Given the description of an element on the screen output the (x, y) to click on. 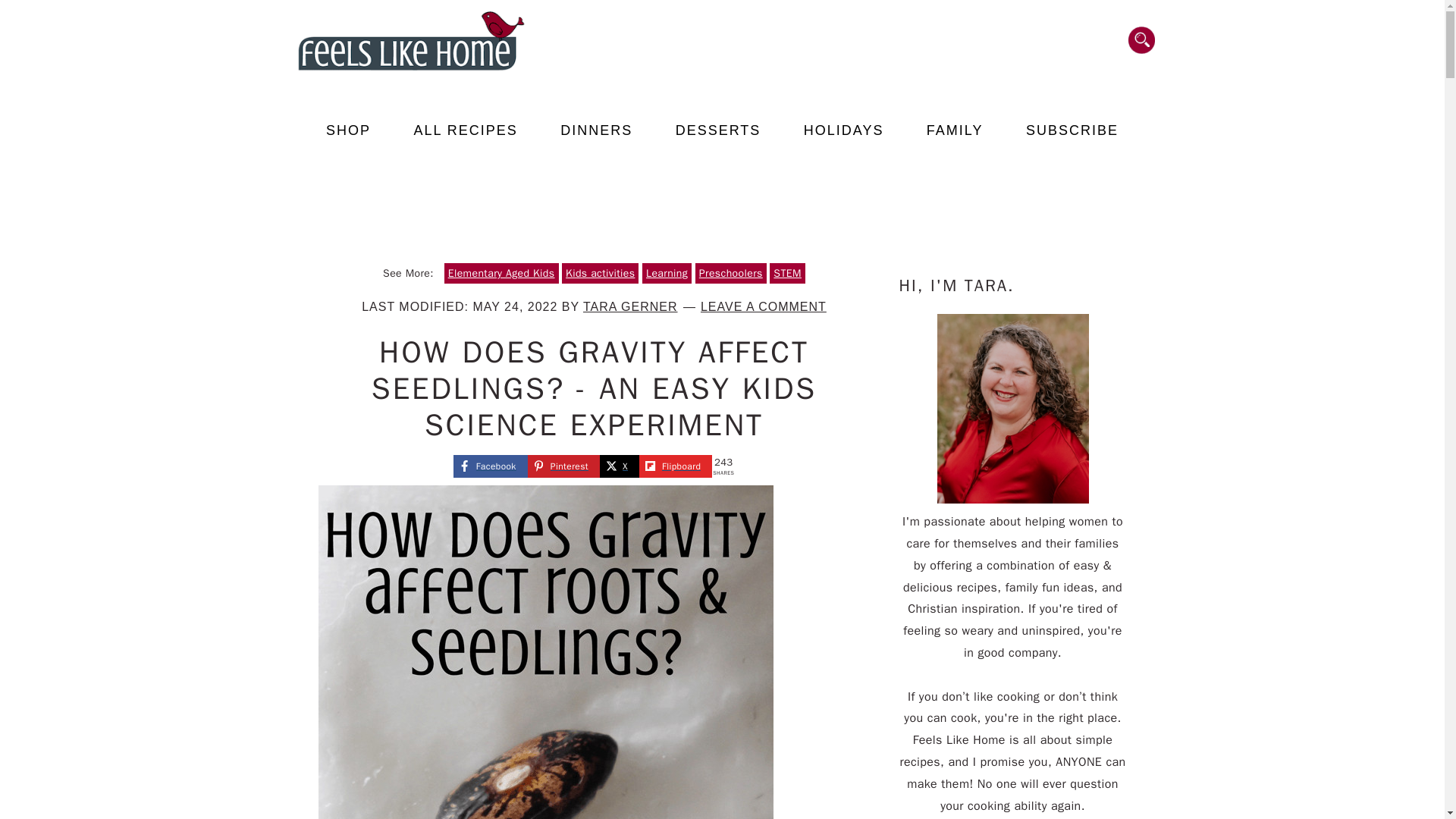
SHOP (348, 130)
ALL RECIPES (464, 130)
